Given the description of an element on the screen output the (x, y) to click on. 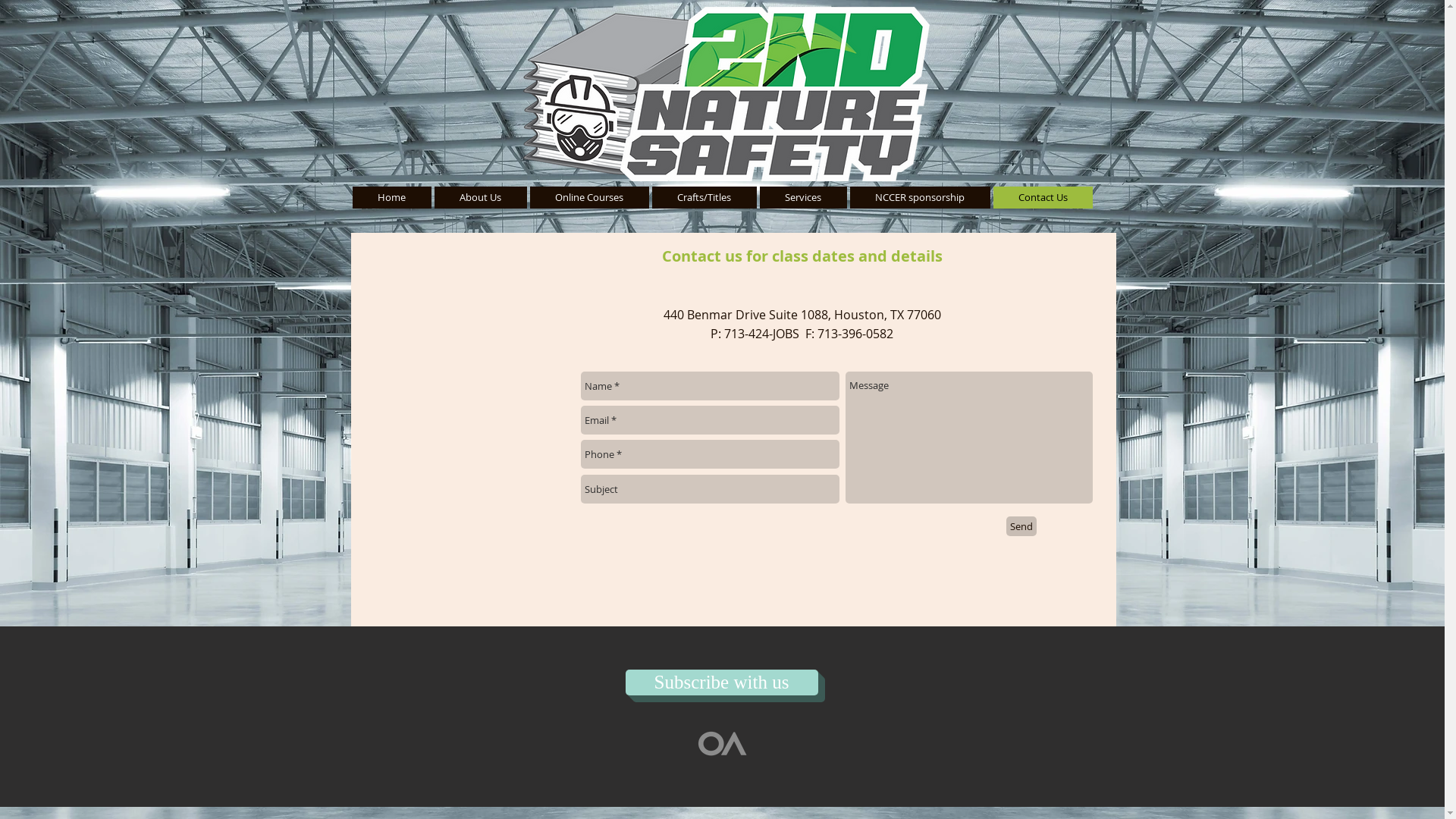
Home Element type: text (390, 197)
Send Element type: text (1020, 526)
Subscribe with us Element type: text (720, 682)
Google Maps Element type: hover (465, 444)
Online Courses Element type: text (588, 197)
Contact Us Element type: text (1042, 197)
Crafts/Titles Element type: text (704, 197)
About Us Element type: text (479, 197)
Services Element type: text (803, 197)
NCCER sponsorship Element type: text (919, 197)
